Given the description of an element on the screen output the (x, y) to click on. 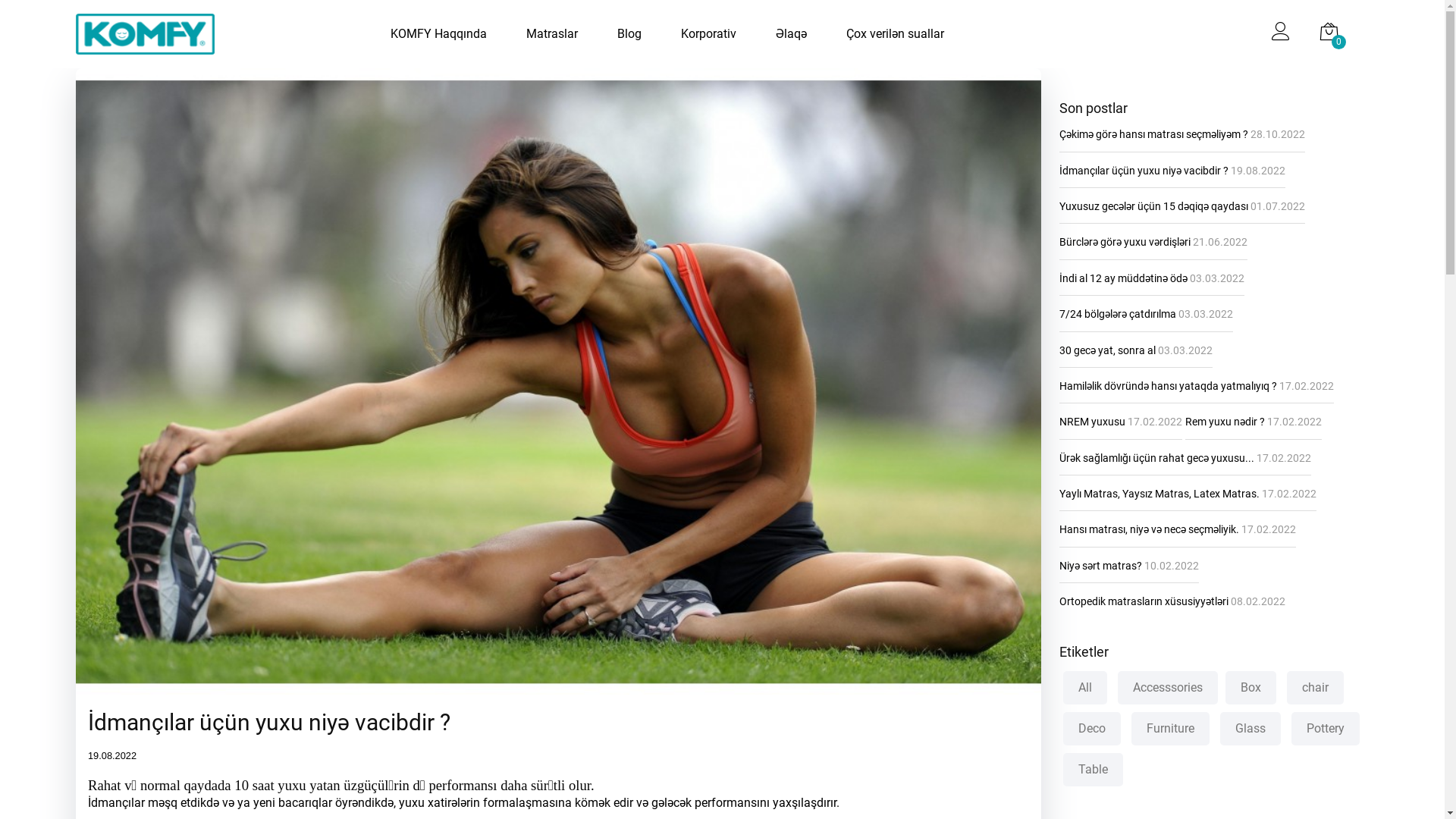
0 Element type: text (1329, 34)
Furniture Element type: text (1170, 728)
Accesssories Element type: text (1167, 687)
Pottery Element type: text (1325, 728)
Blog Element type: text (629, 34)
Deco Element type: text (1091, 728)
Korporativ Element type: text (708, 34)
Glass Element type: text (1250, 728)
Box Element type: text (1250, 687)
All Element type: text (1085, 687)
Matraslar Element type: text (551, 34)
chair Element type: text (1314, 687)
Table Element type: text (1093, 769)
NREM yuxusu 17.02.2022 Element type: text (1120, 421)
